Given the description of an element on the screen output the (x, y) to click on. 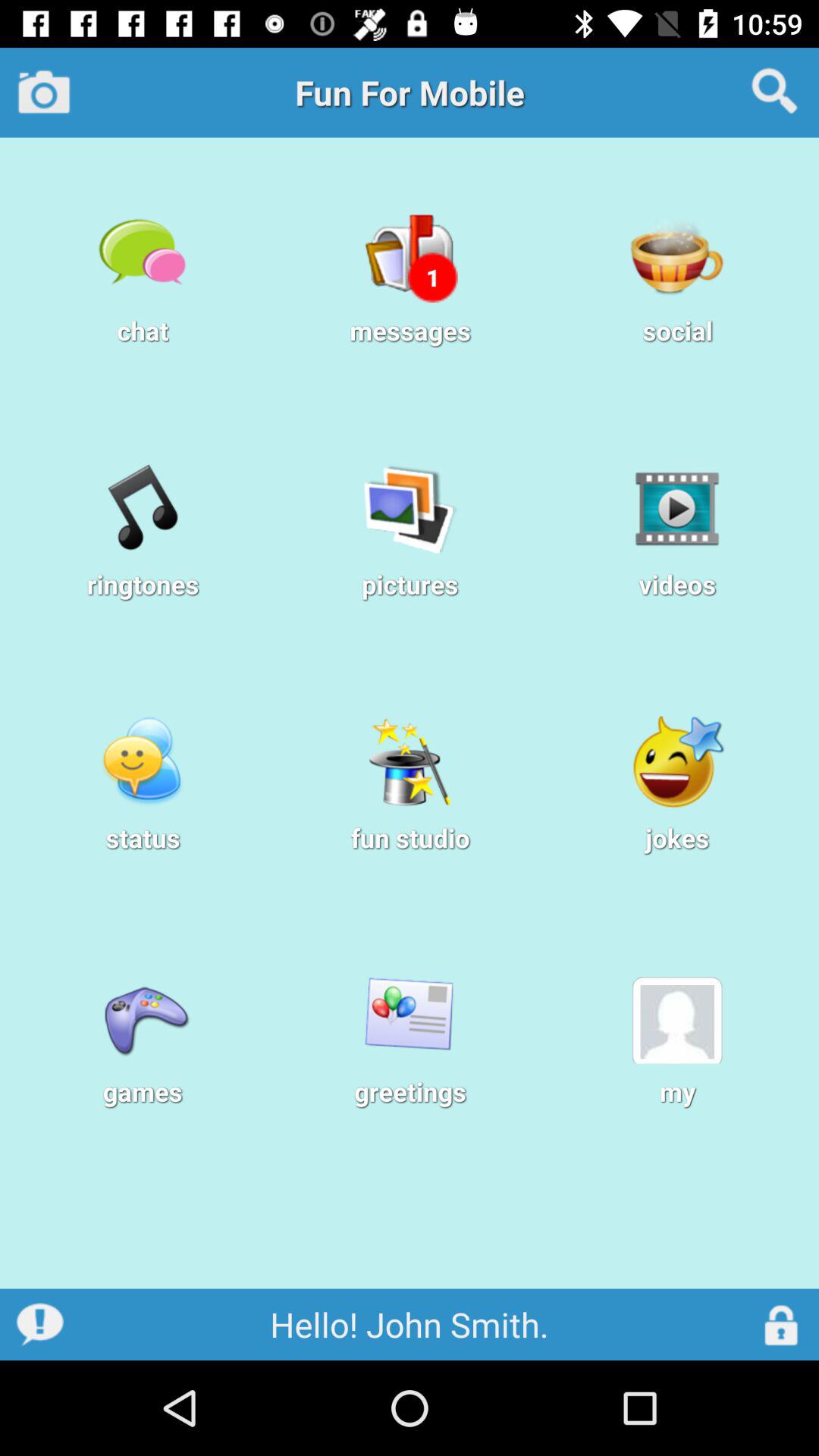
press icon next to fun for mobile (43, 91)
